Given the description of an element on the screen output the (x, y) to click on. 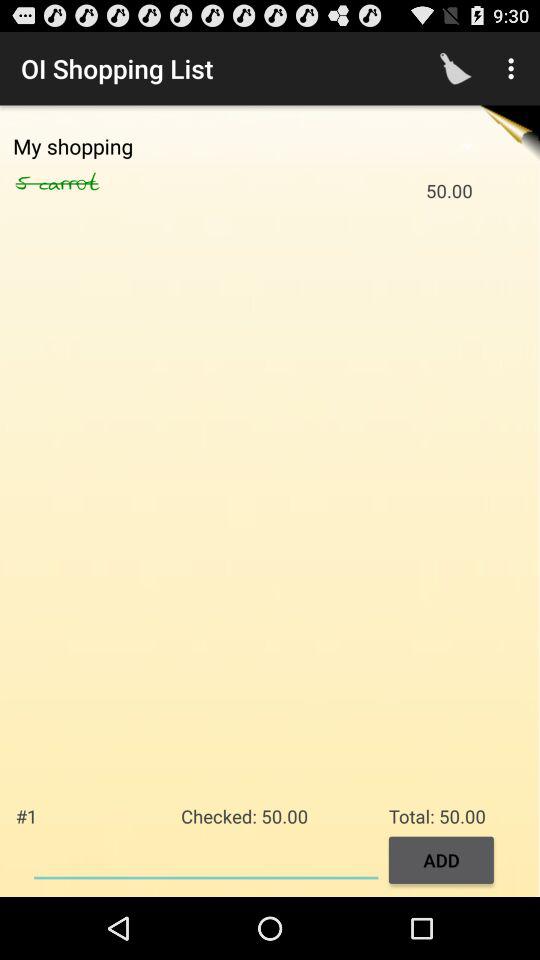
turn on icon to the right of 5 (90, 183)
